Given the description of an element on the screen output the (x, y) to click on. 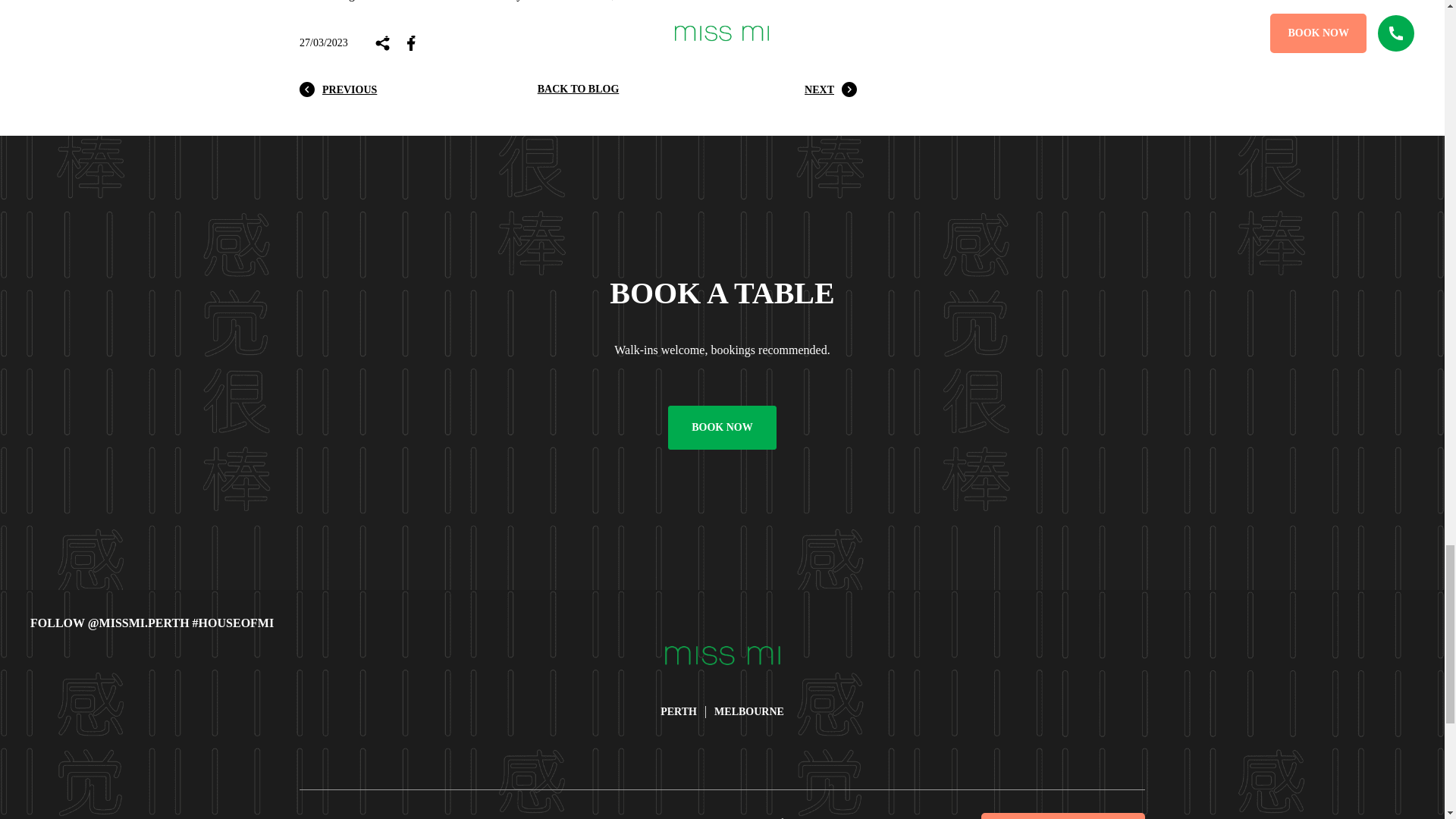
BOOK NOW (722, 427)
PREVIOUS (338, 89)
BACK TO BLOG (577, 89)
PERTH (679, 711)
MELBOURNE (749, 711)
NEXT (831, 89)
